Given the description of an element on the screen output the (x, y) to click on. 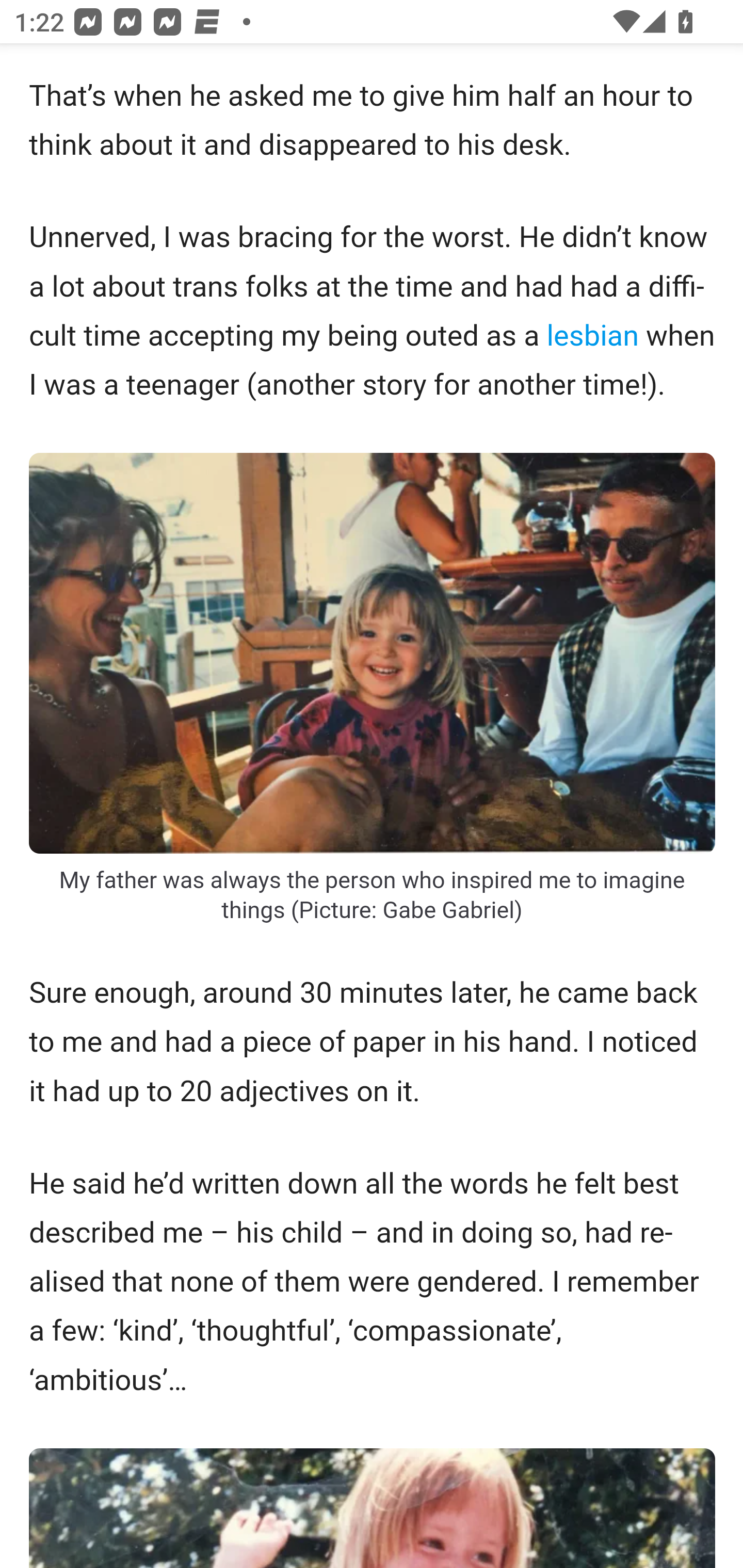
lesbian (592, 335)
